Given the description of an element on the screen output the (x, y) to click on. 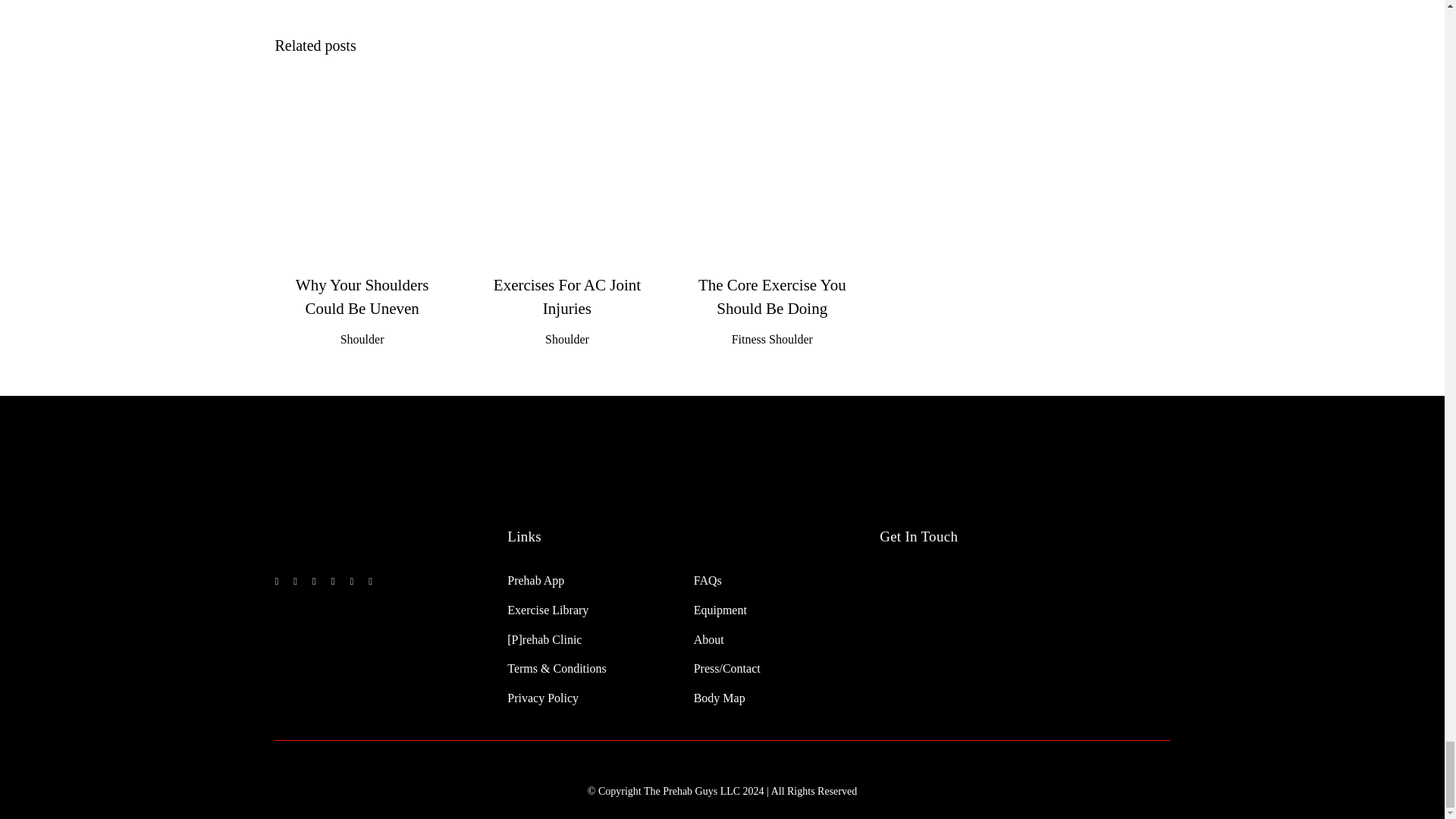
Fitness (748, 338)
Shoulder (362, 338)
Shoulder (566, 338)
Shoulder (790, 338)
